Given the description of an element on the screen output the (x, y) to click on. 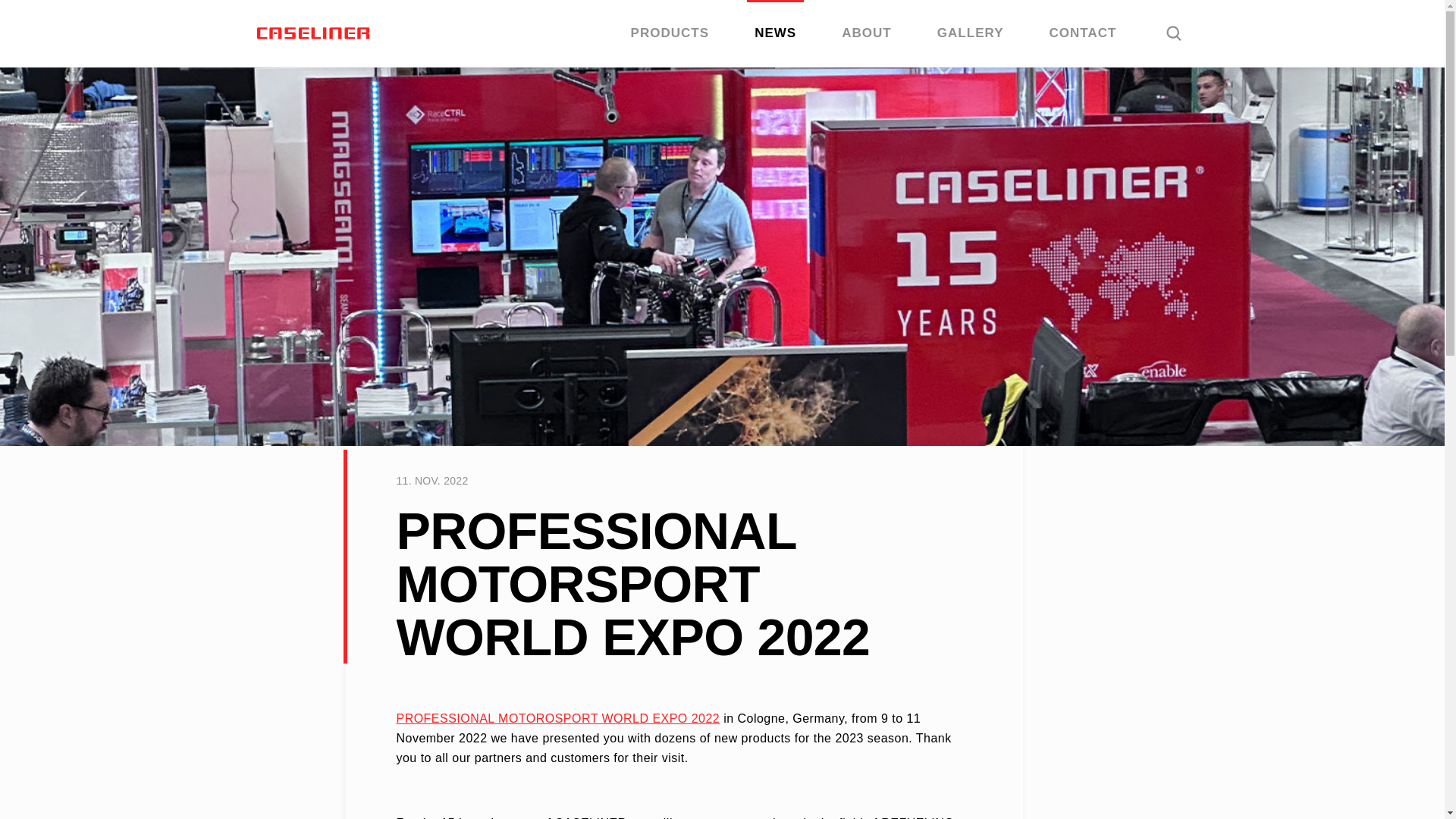
CONTACT (1083, 33)
PRODUCTS (670, 33)
GALLERY (970, 33)
ABOUT (866, 33)
PROFESSIONAL MOTOROSPORT WORLD EXPO 2022 (557, 717)
Search (1173, 33)
